Given the description of an element on the screen output the (x, y) to click on. 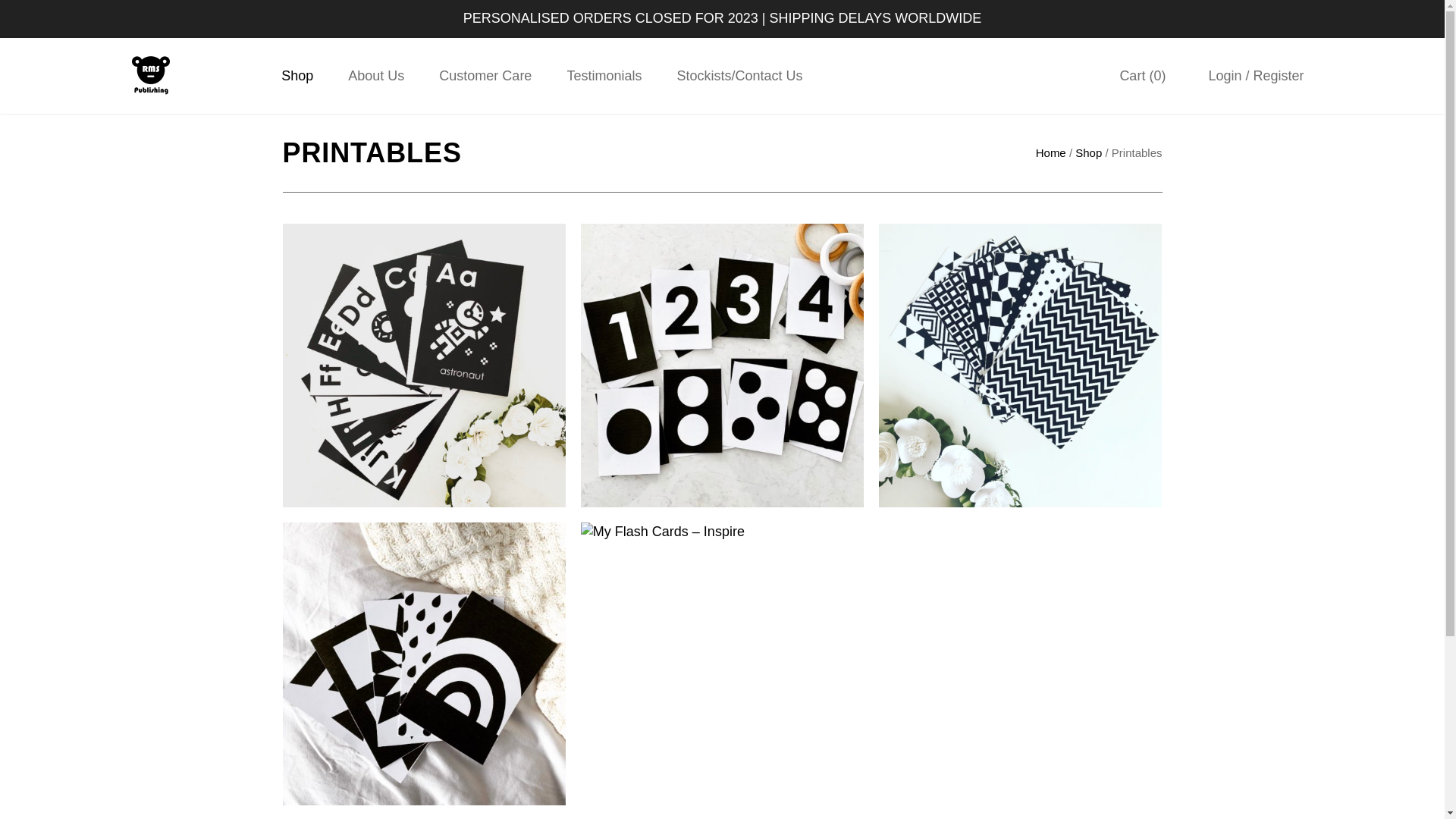
Cart (0) Element type: text (1138, 75)
Shop Element type: text (296, 75)
Login / Register Element type: text (1252, 75)
Shop Element type: text (1088, 152)
Testimonials Element type: text (603, 75)
Stockists/Contact Us Element type: text (738, 75)
Home Element type: text (1050, 152)
About Us Element type: text (375, 75)
Customer Care Element type: text (485, 75)
